Given the description of an element on the screen output the (x, y) to click on. 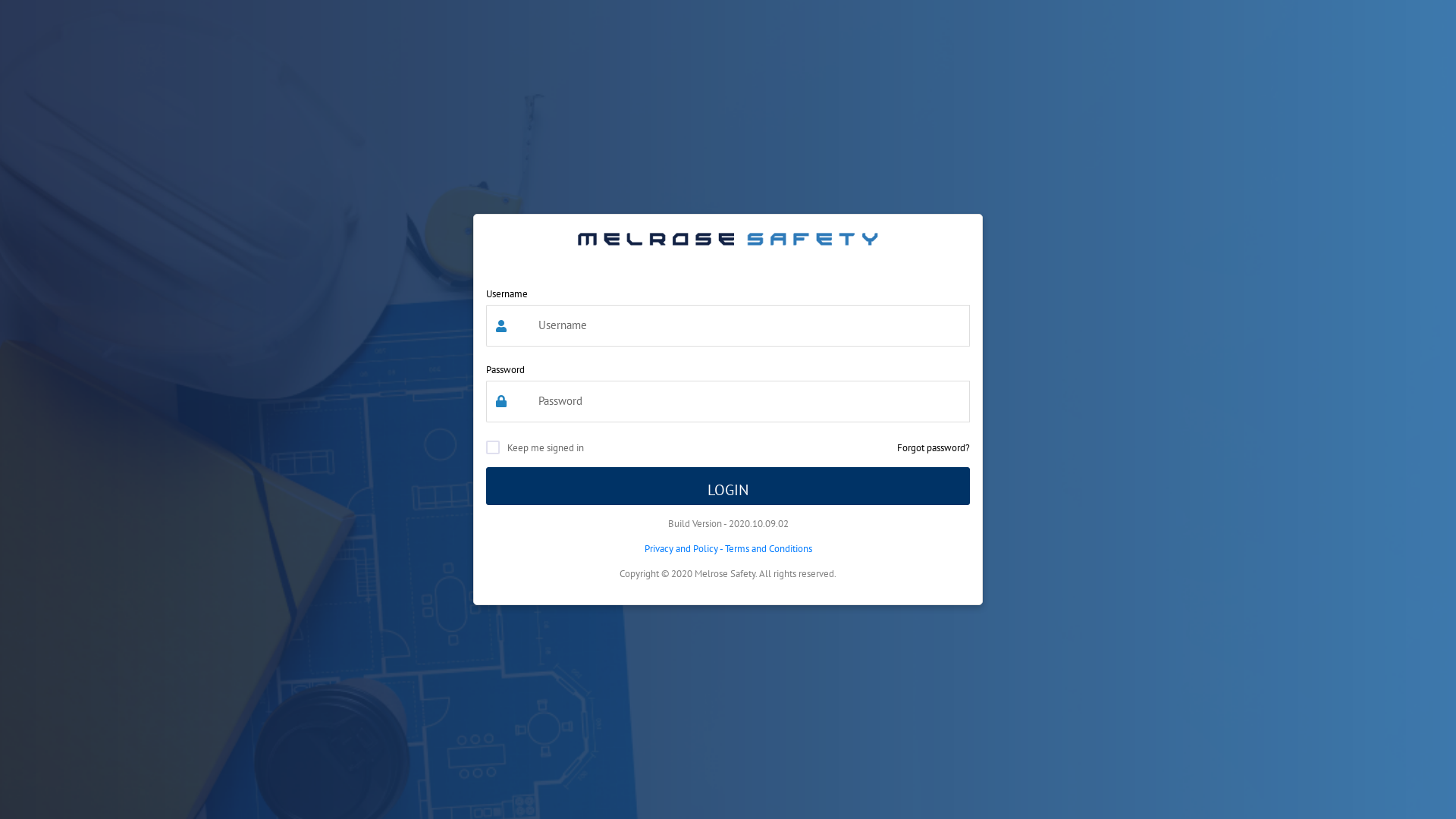
Forgot password? Element type: text (933, 447)
LOGIN Element type: text (727, 486)
- Terms and Conditions Element type: text (764, 548)
Privacy and Policy Element type: text (681, 548)
